Given the description of an element on the screen output the (x, y) to click on. 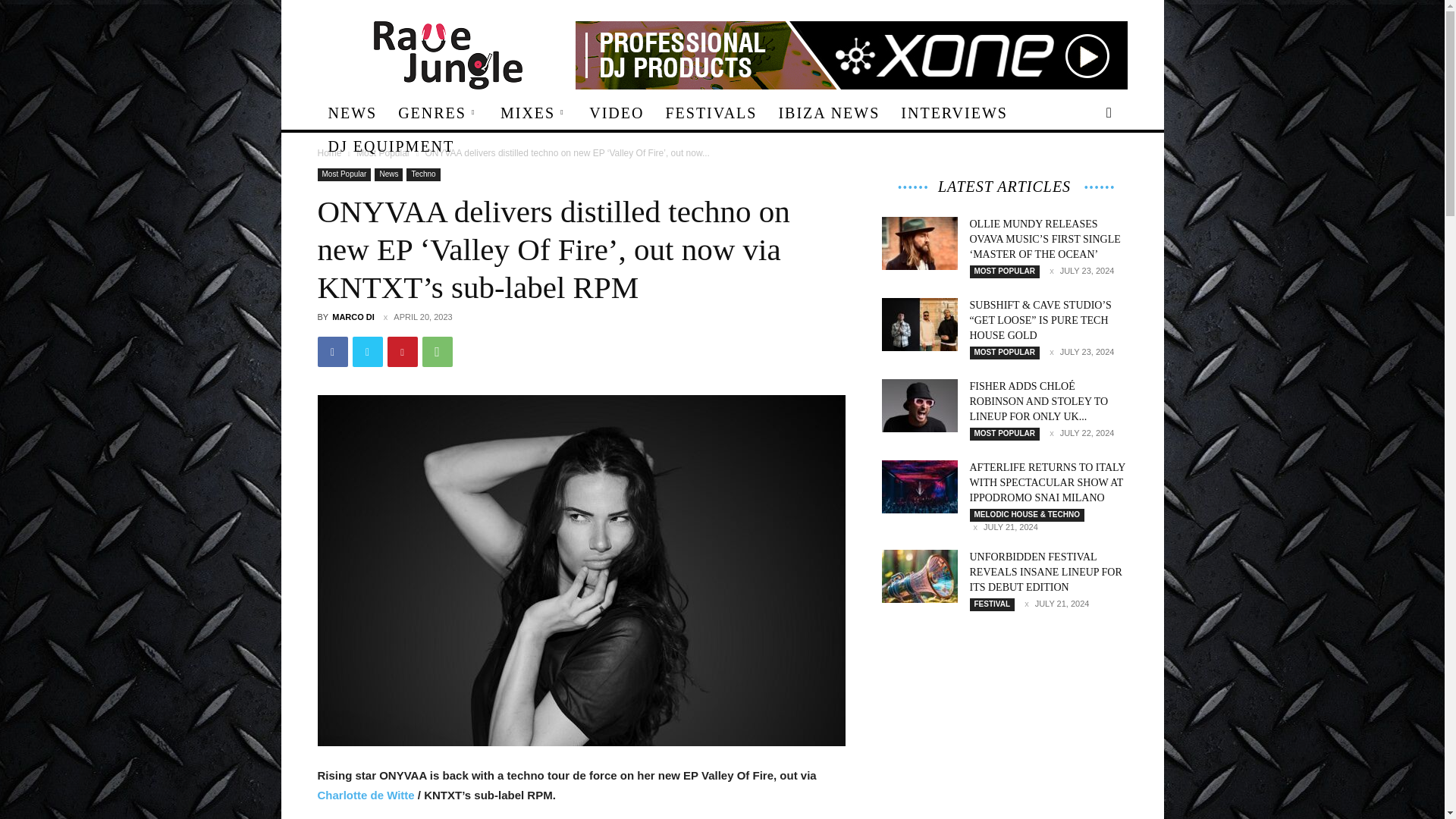
NEWS (352, 112)
GENRES (438, 112)
